Given the description of an element on the screen output the (x, y) to click on. 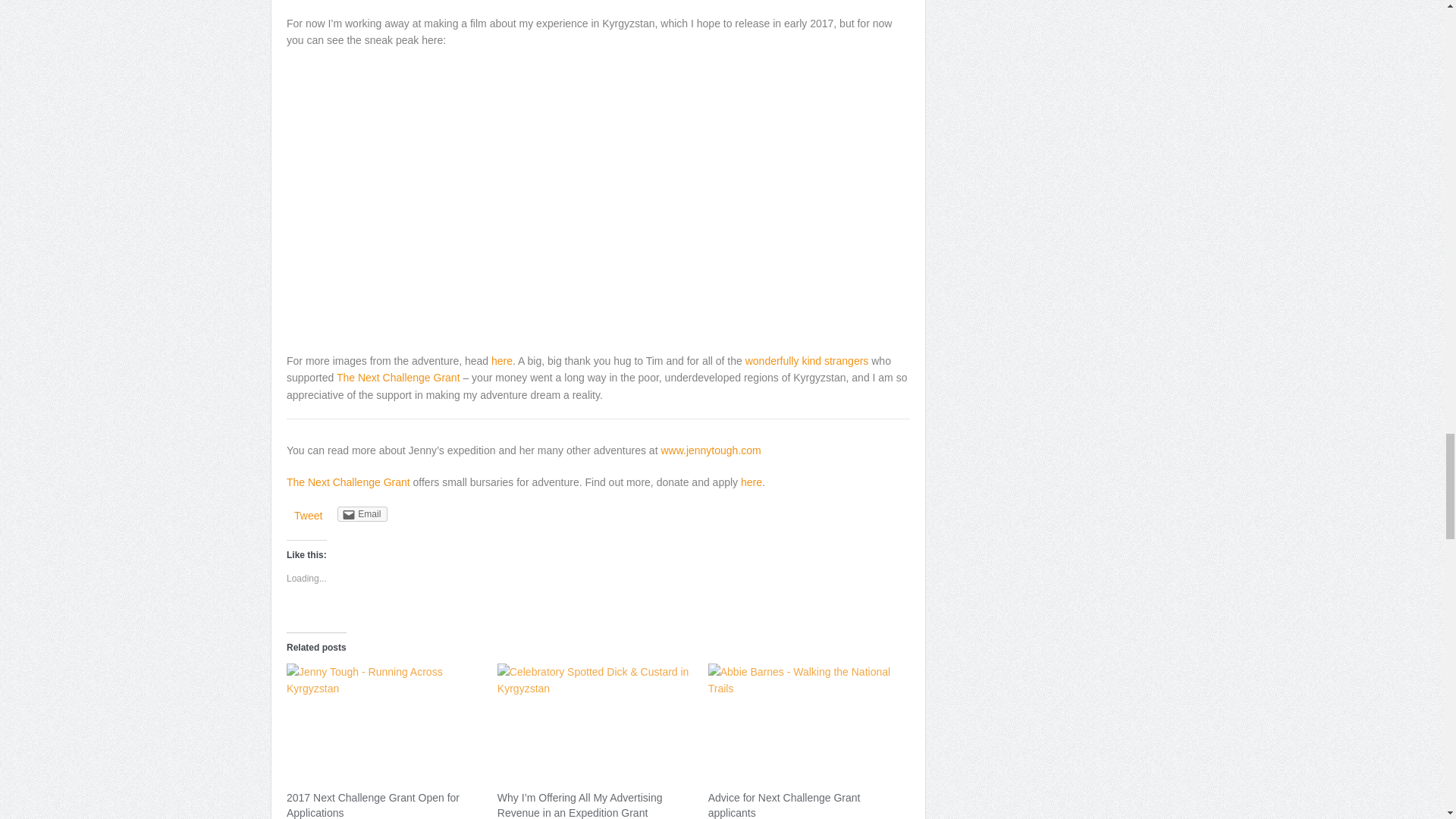
Advice for Next Challenge Grant applicants (783, 805)
2017 Next Challenge Grant Open for Applications (373, 805)
2017 Next Challenge Grant Open for Applications (383, 718)
Click to email a link to a friend (362, 513)
Advice for Next Challenge Grant applicants (805, 718)
